Given the description of an element on the screen output the (x, y) to click on. 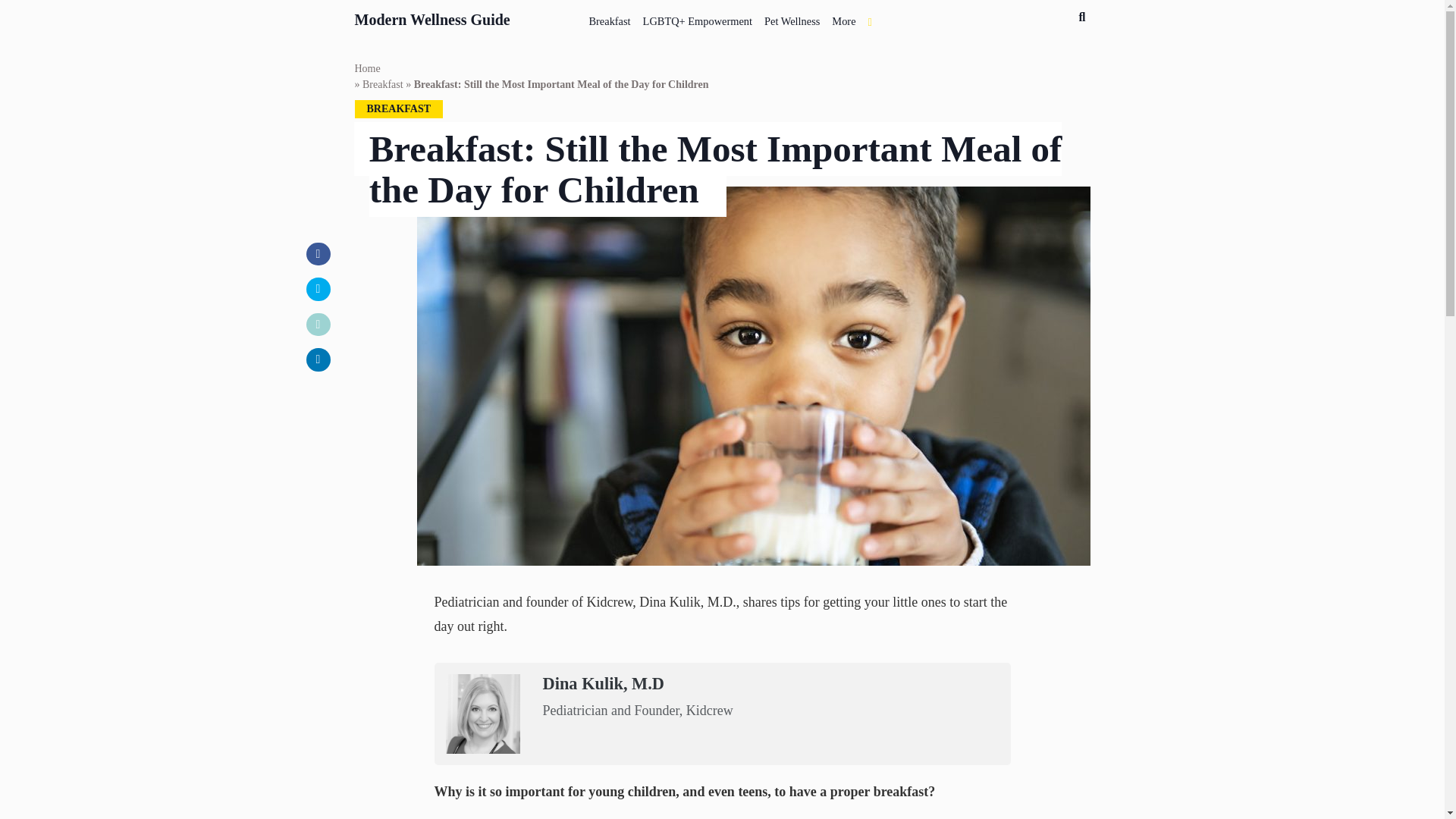
Modern Wellness Guide (433, 17)
Pet Wellness (791, 18)
More (843, 18)
Breakfast (609, 18)
